Given the description of an element on the screen output the (x, y) to click on. 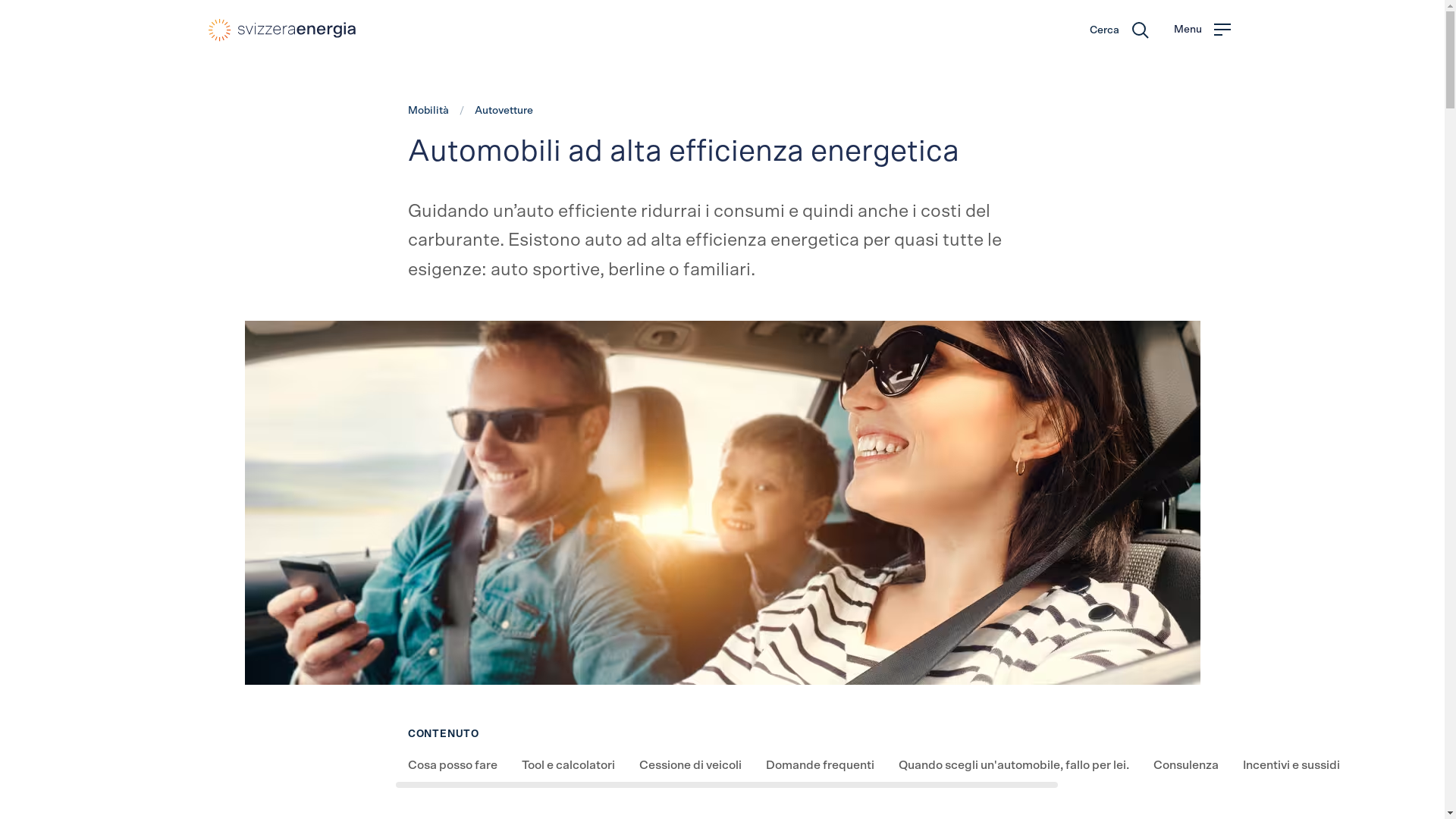
Quando scegli un'automobile, fallo per lei. Element type: text (1013, 765)
Cerca Element type: text (1118, 30)
Domande frequenti Element type: text (819, 765)
Cessione di veicoli Element type: text (690, 765)
Cosa posso fare Element type: text (452, 765)
Autovetture Element type: text (503, 110)
Consulenza Element type: text (1185, 765)
Incentivi e sussidi Element type: text (1291, 765)
Tool e calcolatori Element type: text (568, 765)
Menu Element type: text (1201, 29)
